Given the description of an element on the screen output the (x, y) to click on. 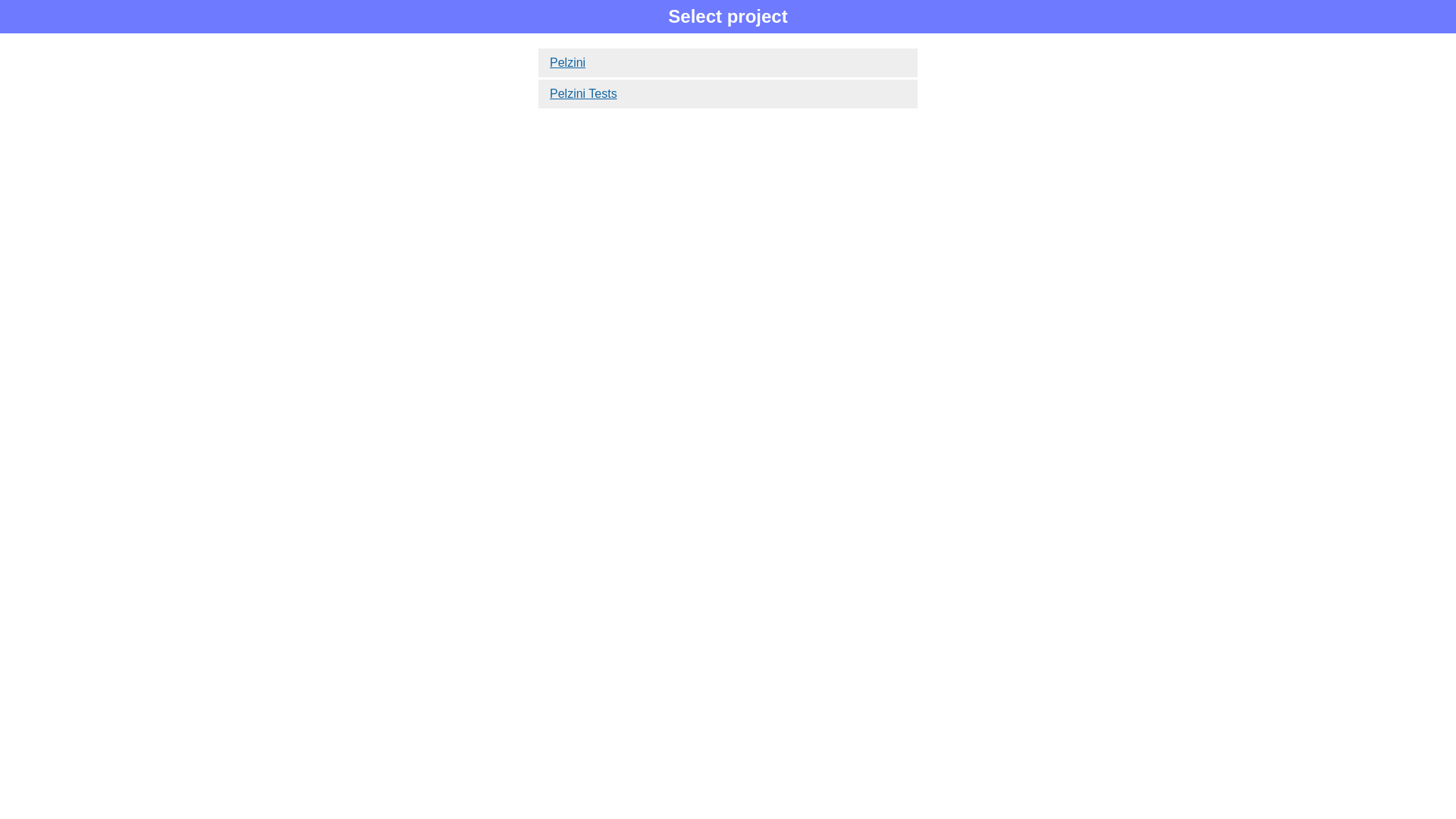
Pelzini Tests Element type: text (727, 93)
Pelzini Element type: text (727, 62)
